Given the description of an element on the screen output the (x, y) to click on. 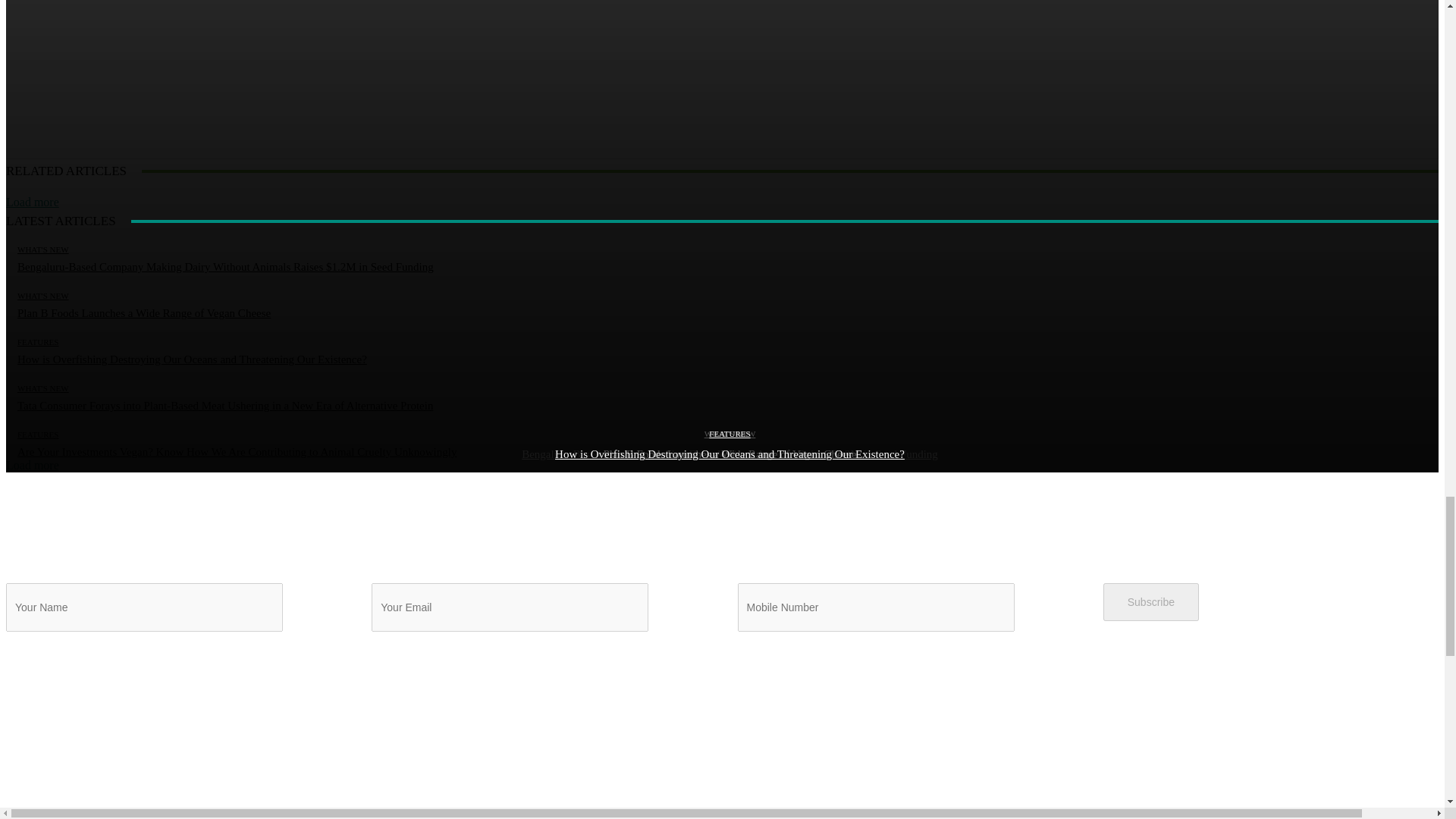
Subscribe (1150, 601)
